Given the description of an element on the screen output the (x, y) to click on. 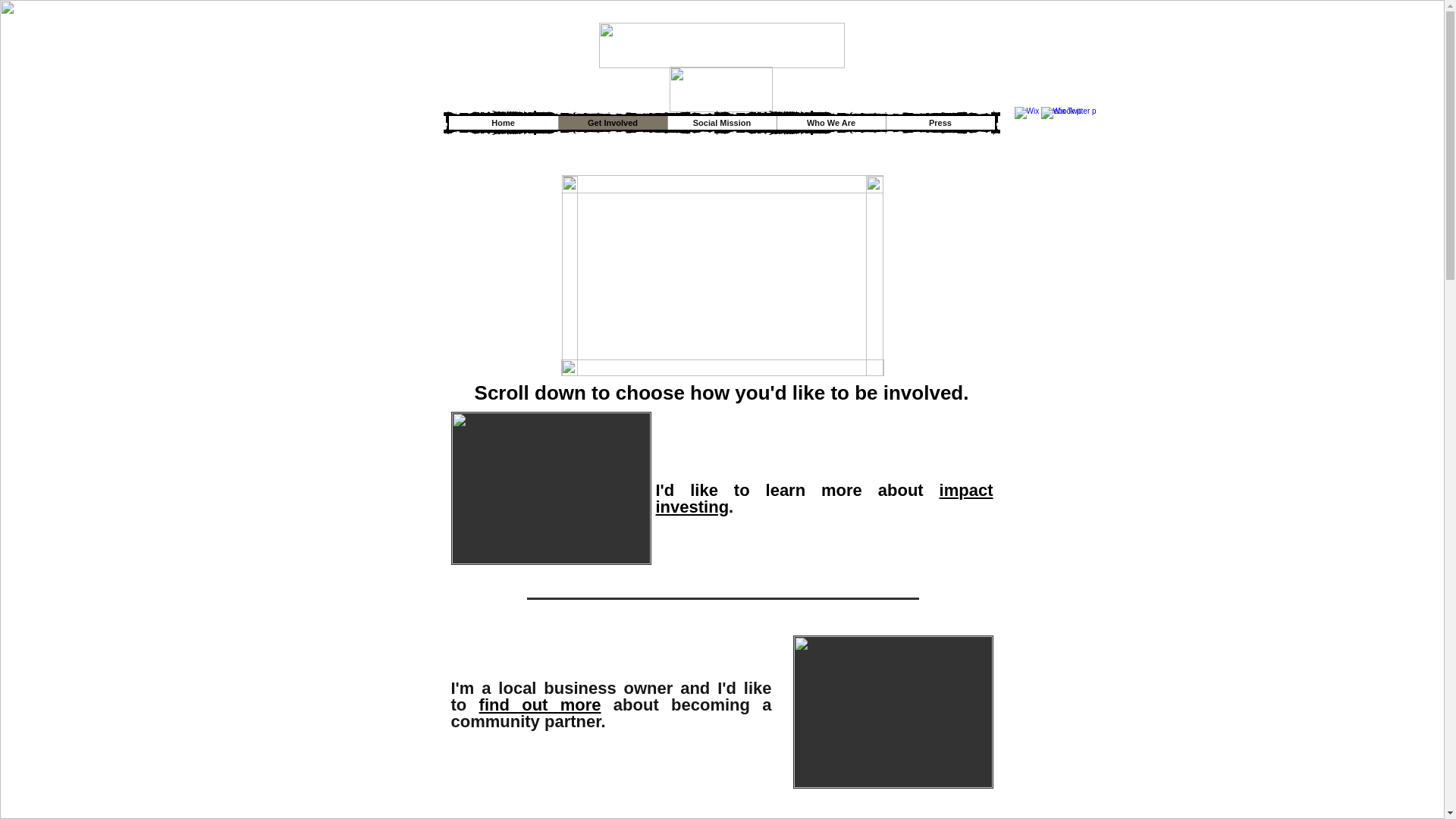
Social Mission (721, 122)
Get Involved (611, 122)
find out more (540, 704)
Home (502, 122)
External Vimeo (719, 275)
Who We Are (830, 122)
impact investing (823, 498)
Press (939, 122)
